Given the description of an element on the screen output the (x, y) to click on. 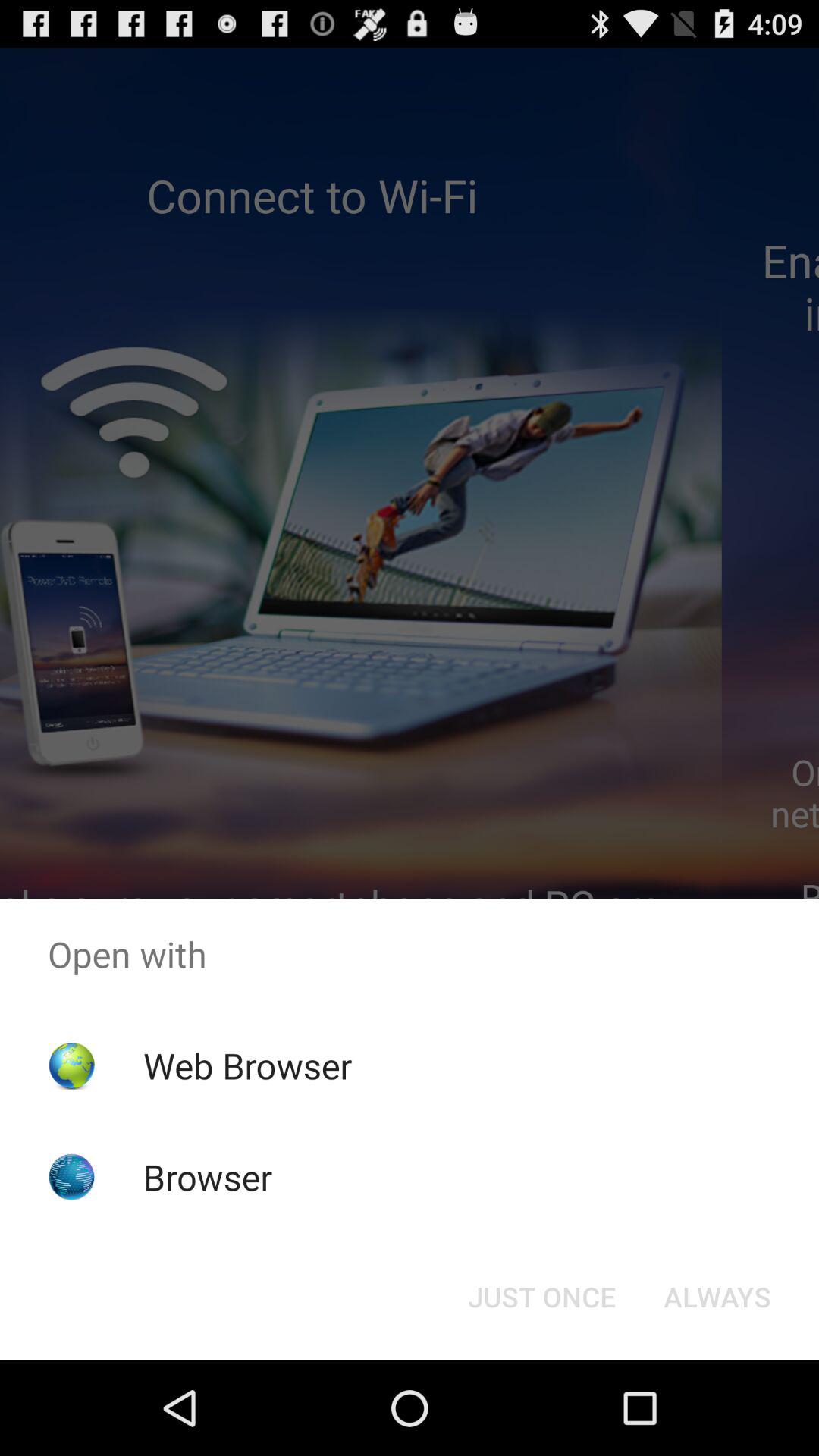
press the item below the open with item (247, 1065)
